Given the description of an element on the screen output the (x, y) to click on. 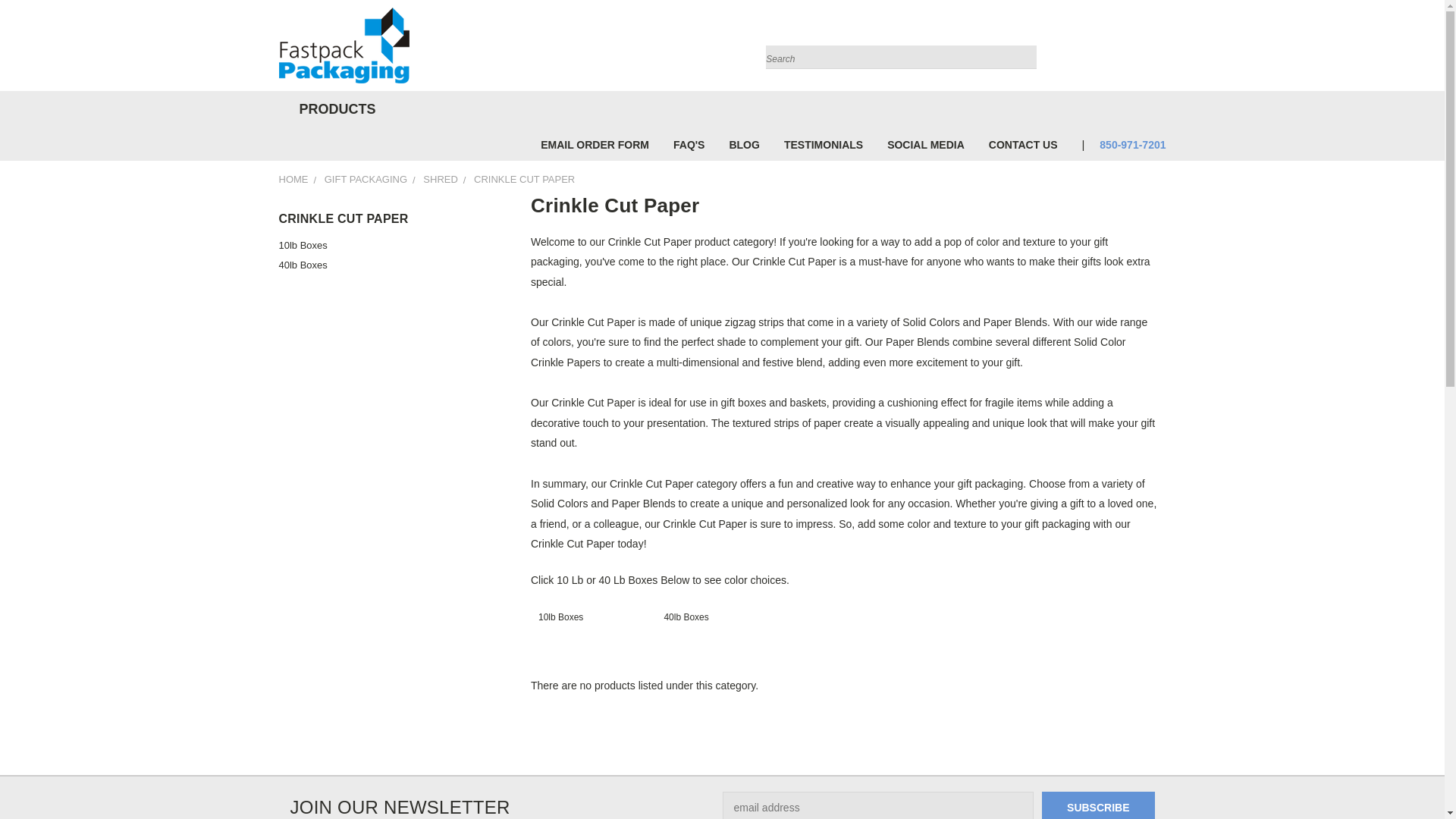
Cart (1161, 48)
PRODUCTS (333, 109)
10lb Boxes (386, 245)
Gift Certificates (1135, 48)
User Toolbox (1105, 48)
Subscribe (1098, 805)
40lb Boxes (386, 265)
Fastpack Packaging (344, 45)
Submit Search (1024, 47)
